Given the description of an element on the screen output the (x, y) to click on. 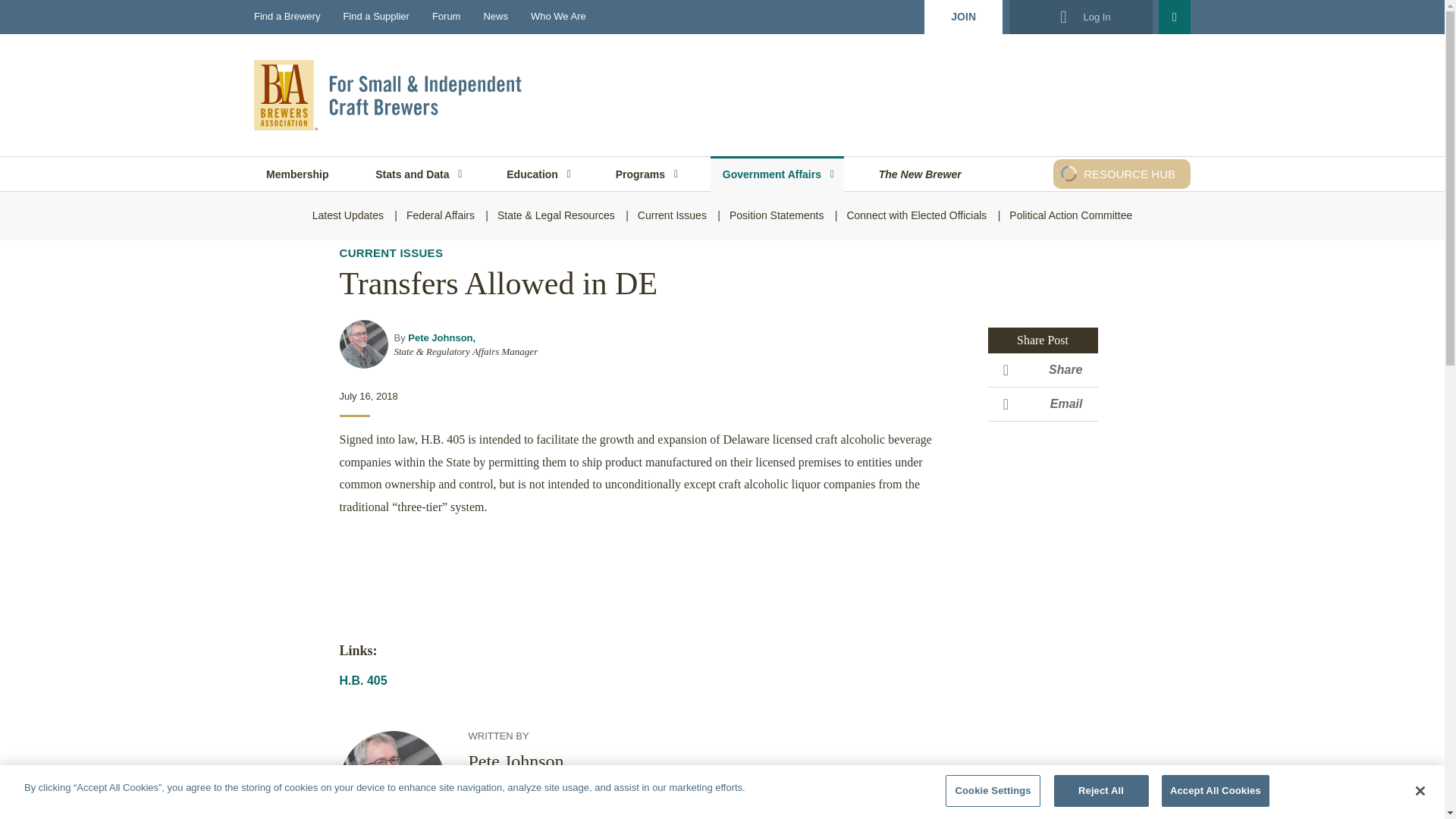
Stats and Data (416, 173)
JOIN (963, 17)
Brewers Association (390, 93)
Membership (296, 173)
Log In (1080, 17)
Who We Are (558, 17)
Programs (645, 173)
Find a Brewery (286, 17)
Find a Supplier (375, 17)
Education (537, 173)
